Given the description of an element on the screen output the (x, y) to click on. 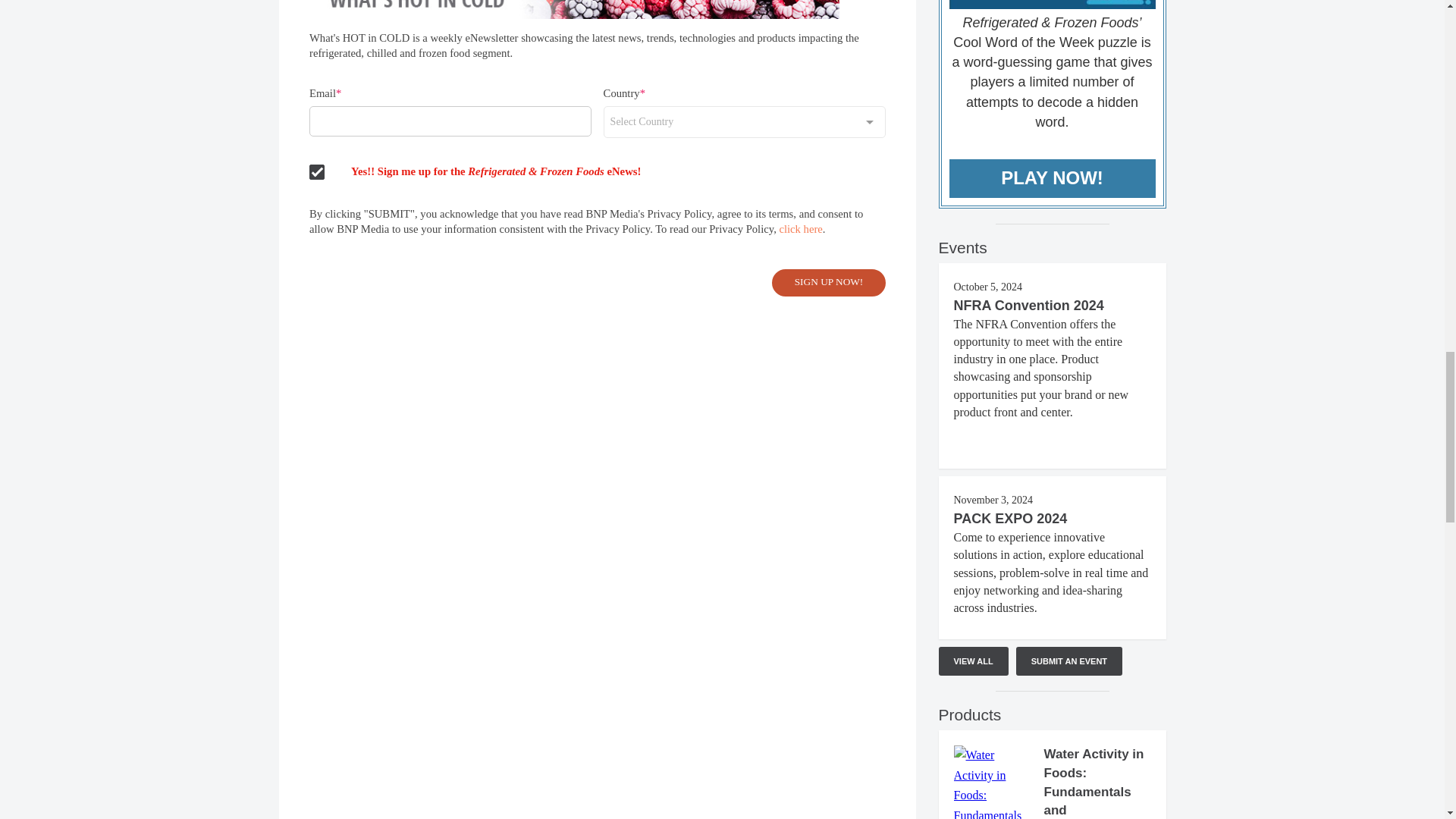
PACK EXPO 2024 (1010, 518)
NFRA Convention 2024 (1028, 305)
